Given the description of an element on the screen output the (x, y) to click on. 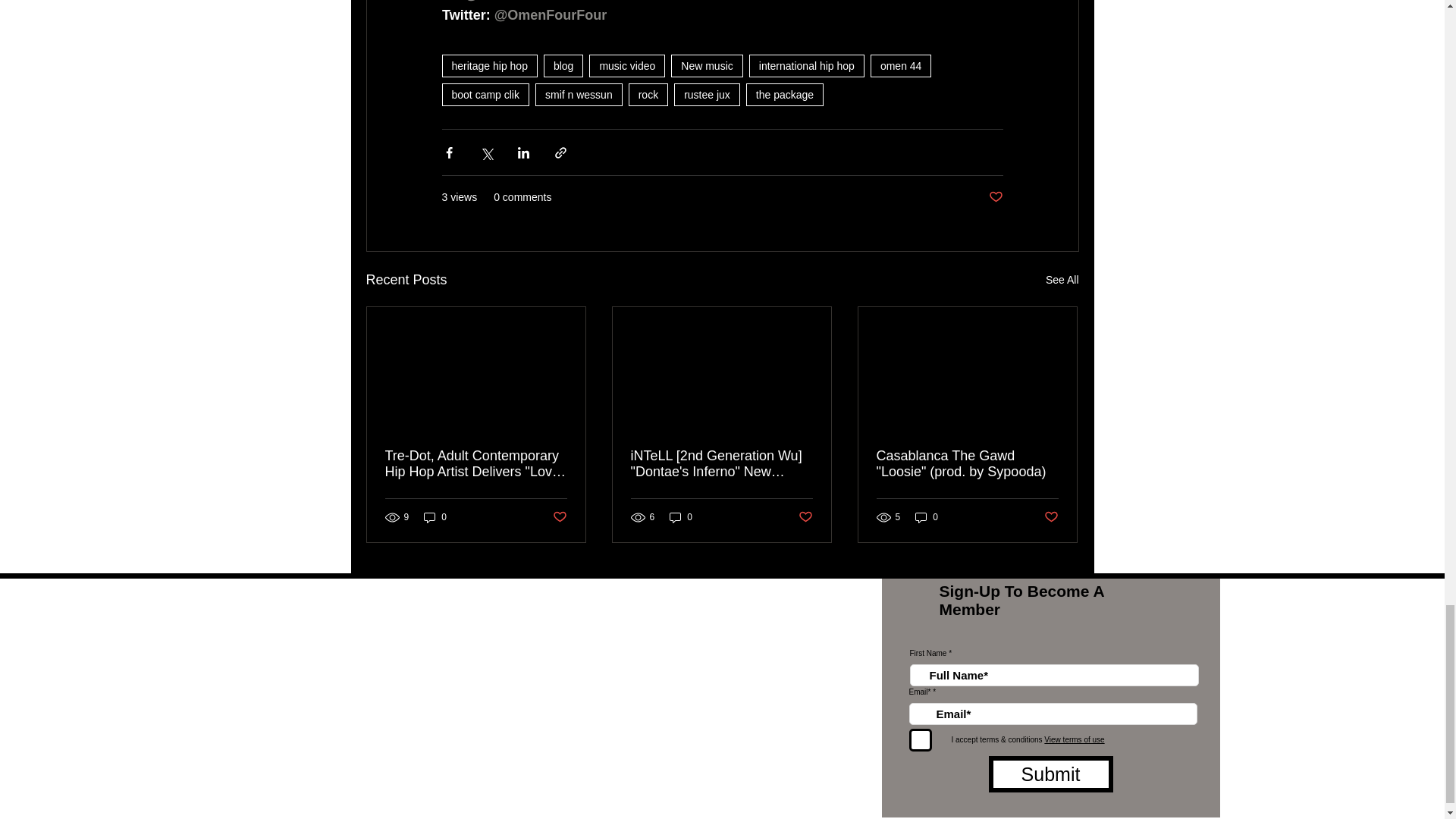
omen 44 (900, 65)
smif n wessun (579, 94)
music video (627, 65)
boot camp clik (484, 94)
rock (648, 94)
heritage hip hop (489, 65)
the package (784, 94)
rustee jux (706, 94)
international hip hop (806, 65)
New music (706, 65)
